Given the description of an element on the screen output the (x, y) to click on. 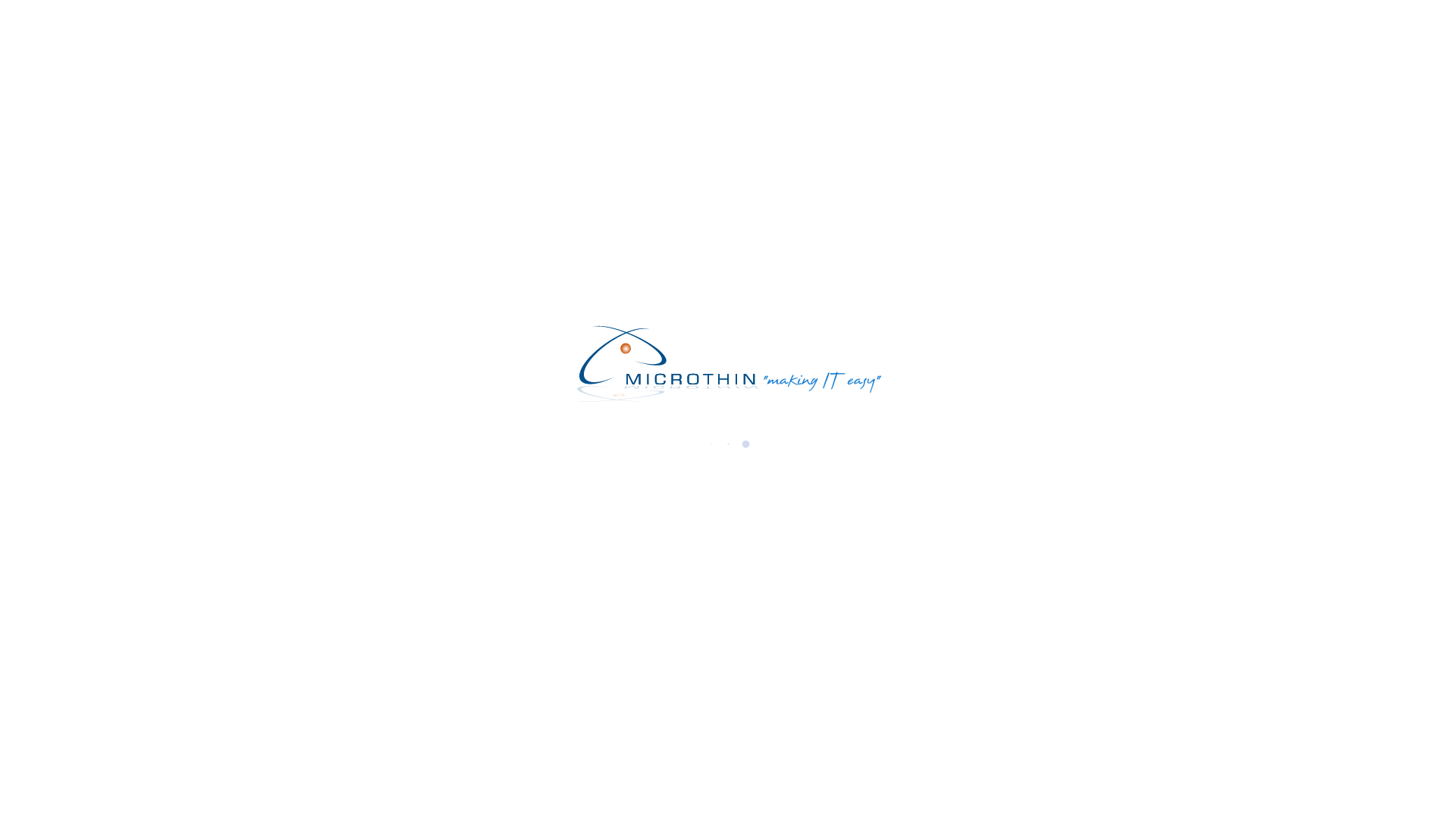
Support Element type: text (835, 14)
Protection Element type: text (842, 14)
About Element type: text (829, 14)
Contact Us Element type: text (843, 14)
Print Managed Solutions Element type: text (881, 14)
Hosting Element type: text (834, 14)
REVIEWS (2) Element type: text (451, 444)
Hosted Voice Element type: text (850, 14)
HOME Element type: text (999, 72)
(2 customer reviews) Element type: text (816, 165)
Qty Element type: hover (722, 309)
ADD TO CART Element type: text (835, 307)
DESCRIPTION Element type: text (358, 444)
